Given the description of an element on the screen output the (x, y) to click on. 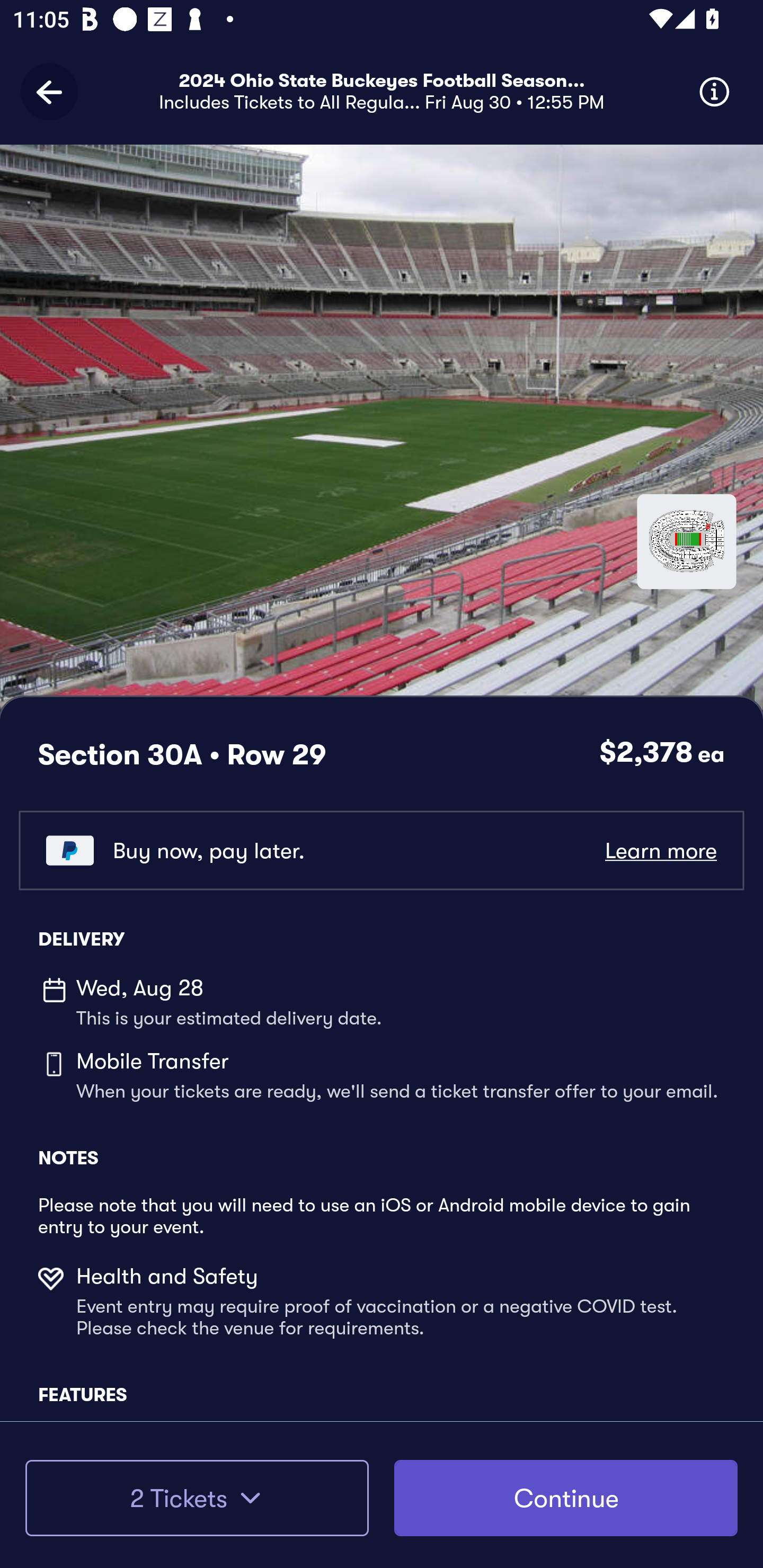
Learn more (660, 850)
2 Tickets (196, 1497)
Continue (565, 1497)
